Given the description of an element on the screen output the (x, y) to click on. 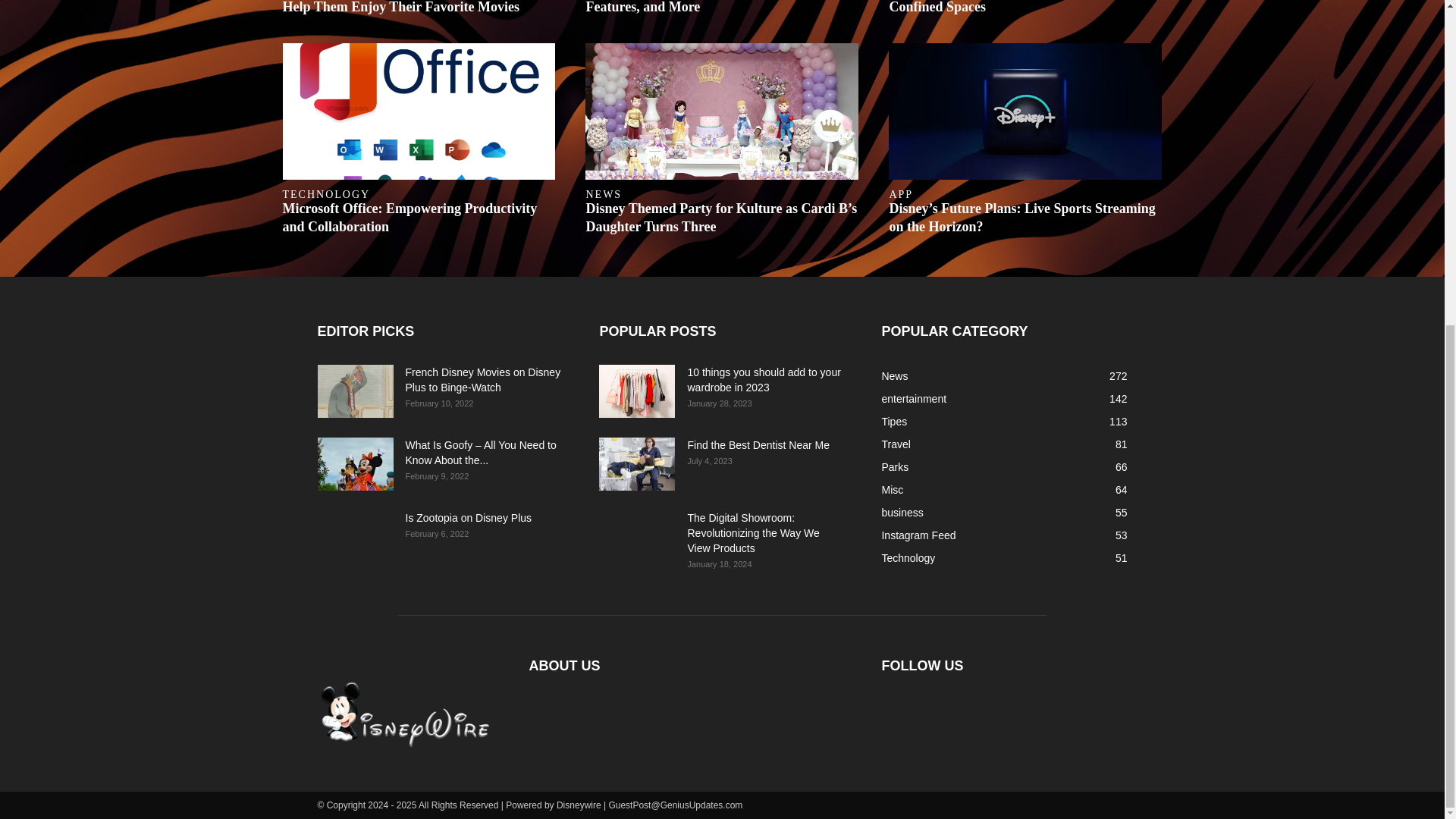
Mastering the Depths: ROPE ACCESS in Confined Spaces (1010, 6)
Microsoft Office: Empowering Productivity and Collaboration (409, 216)
Microsoft Office: Empowering Productivity and Collaboration (418, 111)
Vanessa Little Mermaid Trivia, Character, Features, and More (708, 6)
French Disney Movies on Disney Plus to Binge-Watch (355, 390)
